Given the description of an element on the screen output the (x, y) to click on. 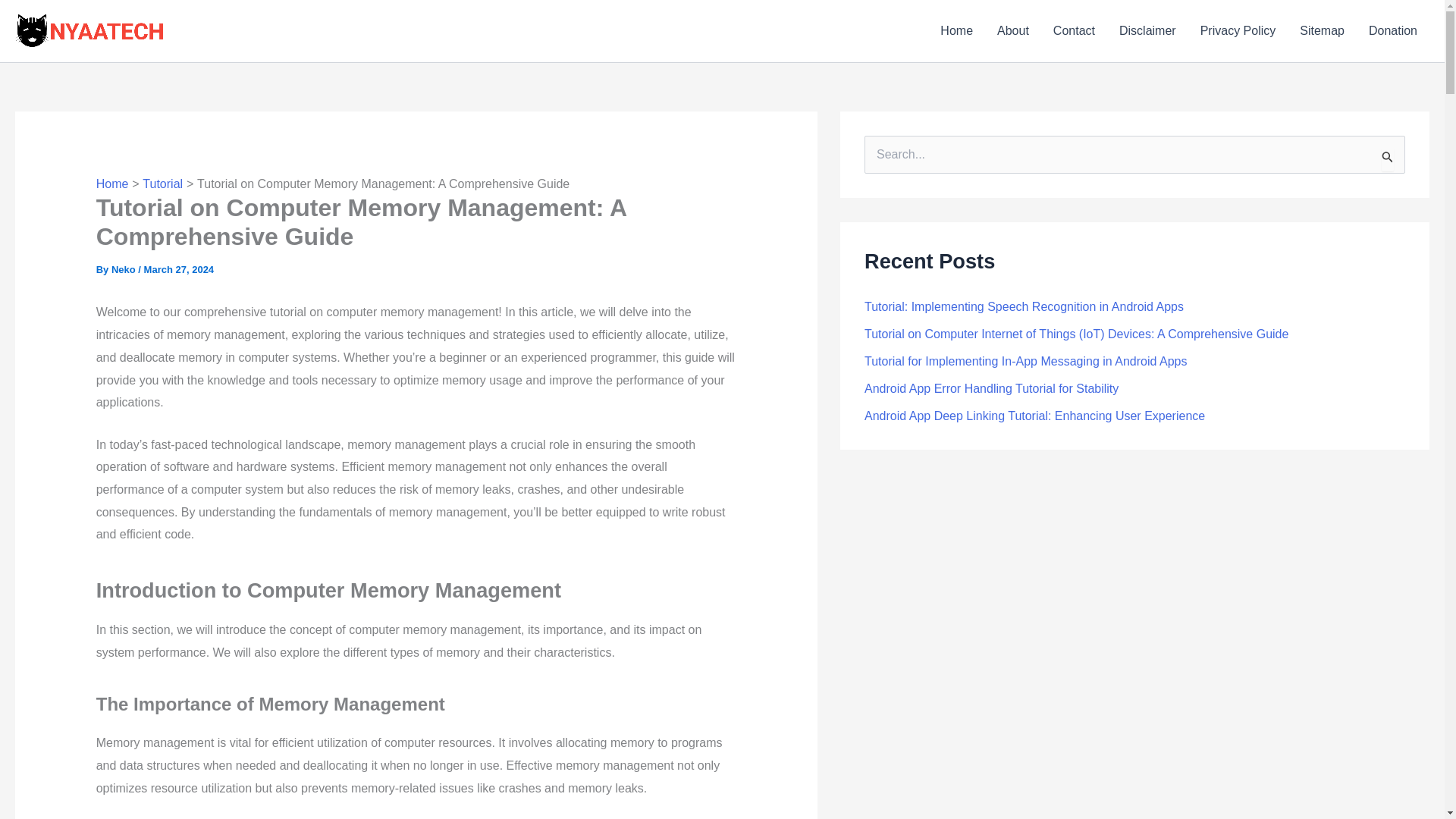
Home (112, 183)
Tutorial for Implementing In-App Messaging in Android Apps (1025, 360)
Disclaimer (1147, 30)
Tutorial (162, 183)
Contact (1073, 30)
Tutorial: Implementing Speech Recognition in Android Apps (1023, 306)
Sitemap (1321, 30)
Privacy Policy (1238, 30)
About (1013, 30)
Neko (125, 269)
